Given the description of an element on the screen output the (x, y) to click on. 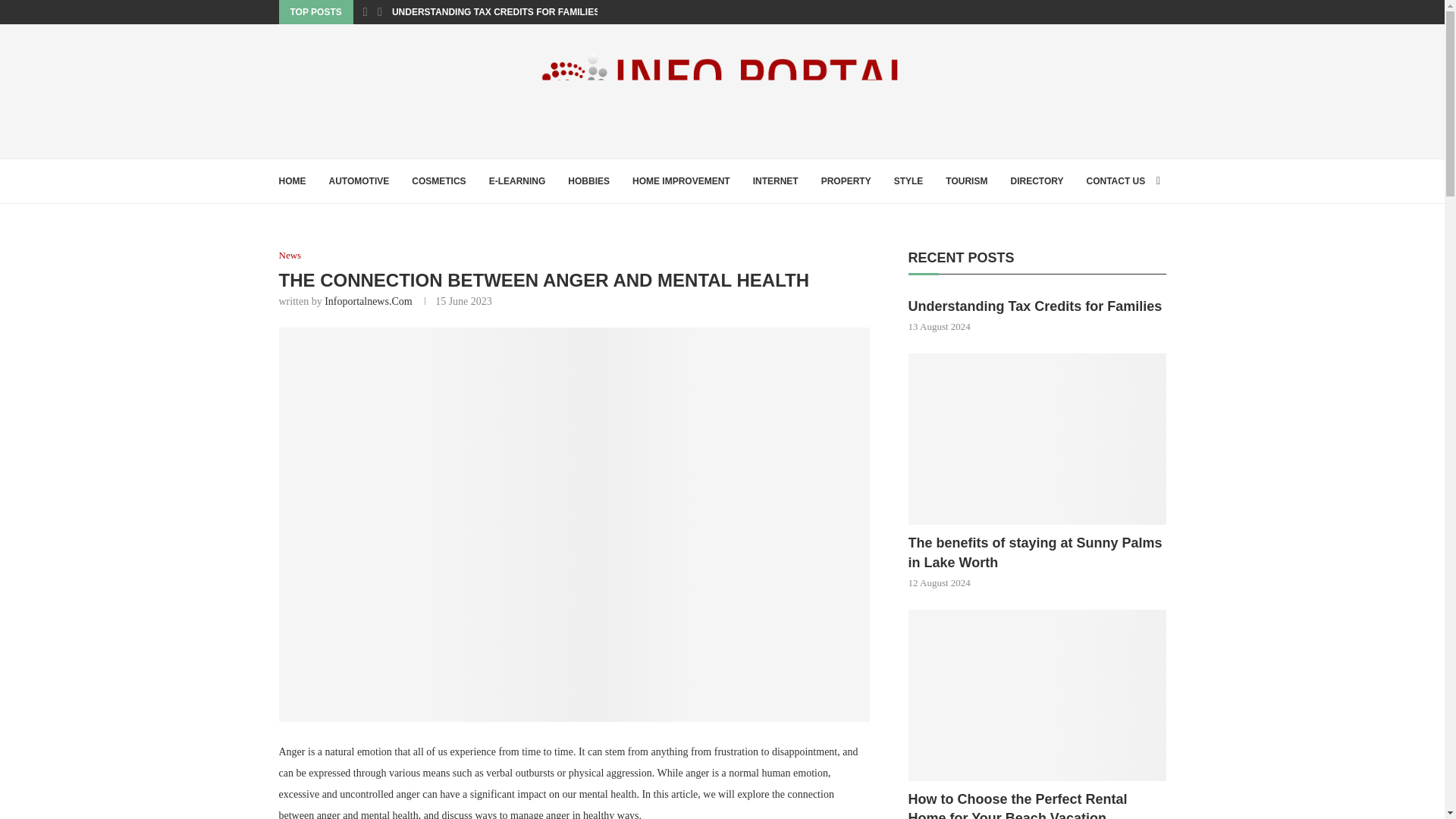
E-LEARNING (517, 180)
AUTOMOTIVE (359, 180)
HOBBIES (588, 180)
UNDERSTANDING TAX CREDITS FOR FAMILIES (495, 12)
News (290, 255)
TOURISM (965, 180)
INTERNET (774, 180)
DIRECTORY (1036, 180)
Infoportalnews.Com (368, 301)
HOME IMPROVEMENT (680, 180)
